Given the description of an element on the screen output the (x, y) to click on. 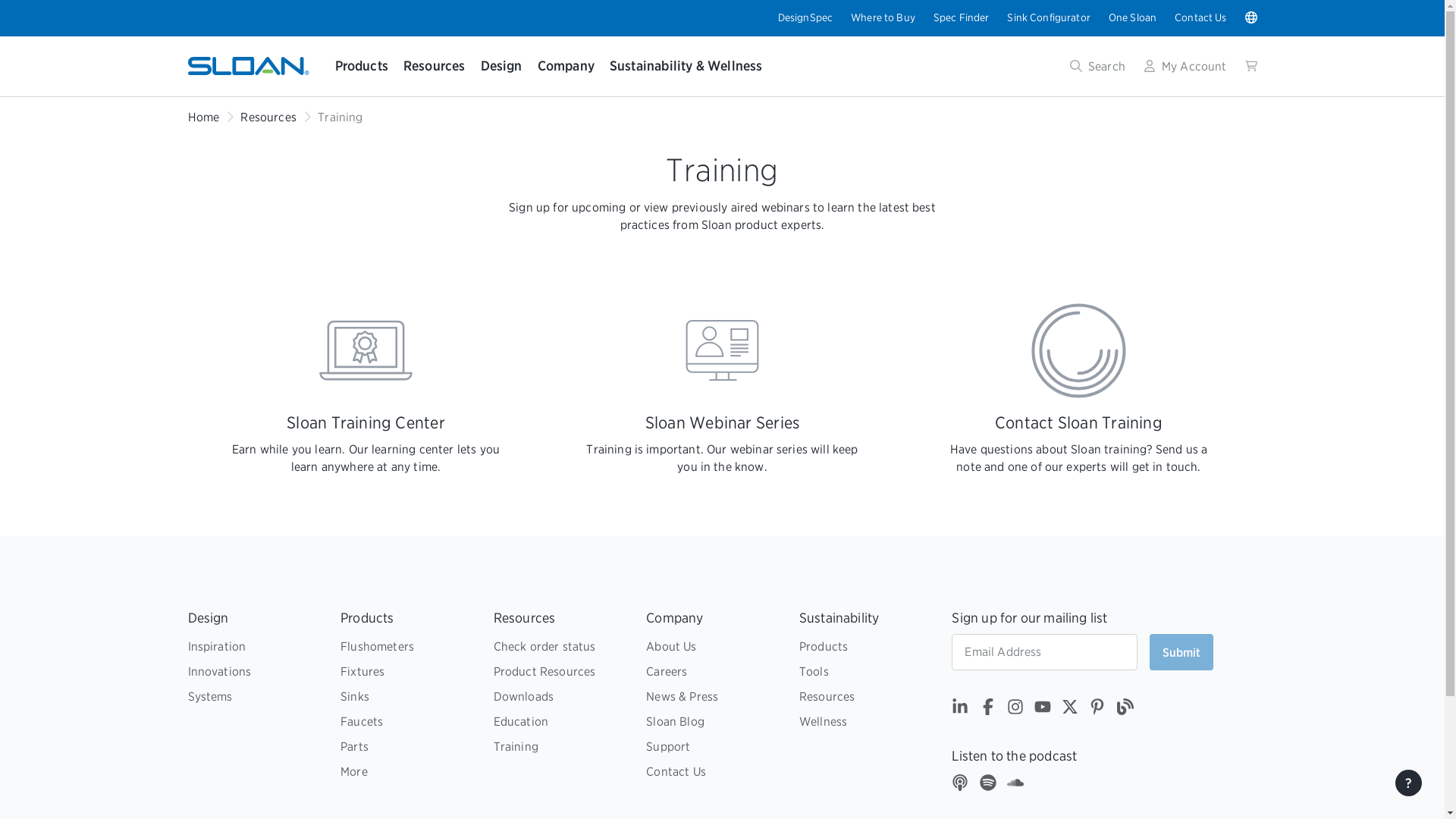
Instagram (1015, 709)
Home (203, 117)
Sink Configurator (1048, 17)
Pinterest (1097, 709)
Facebook (987, 709)
One Sloan (1132, 17)
Resources (267, 117)
DesignSpec (804, 17)
Search (1097, 66)
Design (501, 66)
Blog (1124, 709)
Company (565, 66)
Twitter (1069, 709)
Spotify (987, 784)
LinkedIn (960, 709)
